Given the description of an element on the screen output the (x, y) to click on. 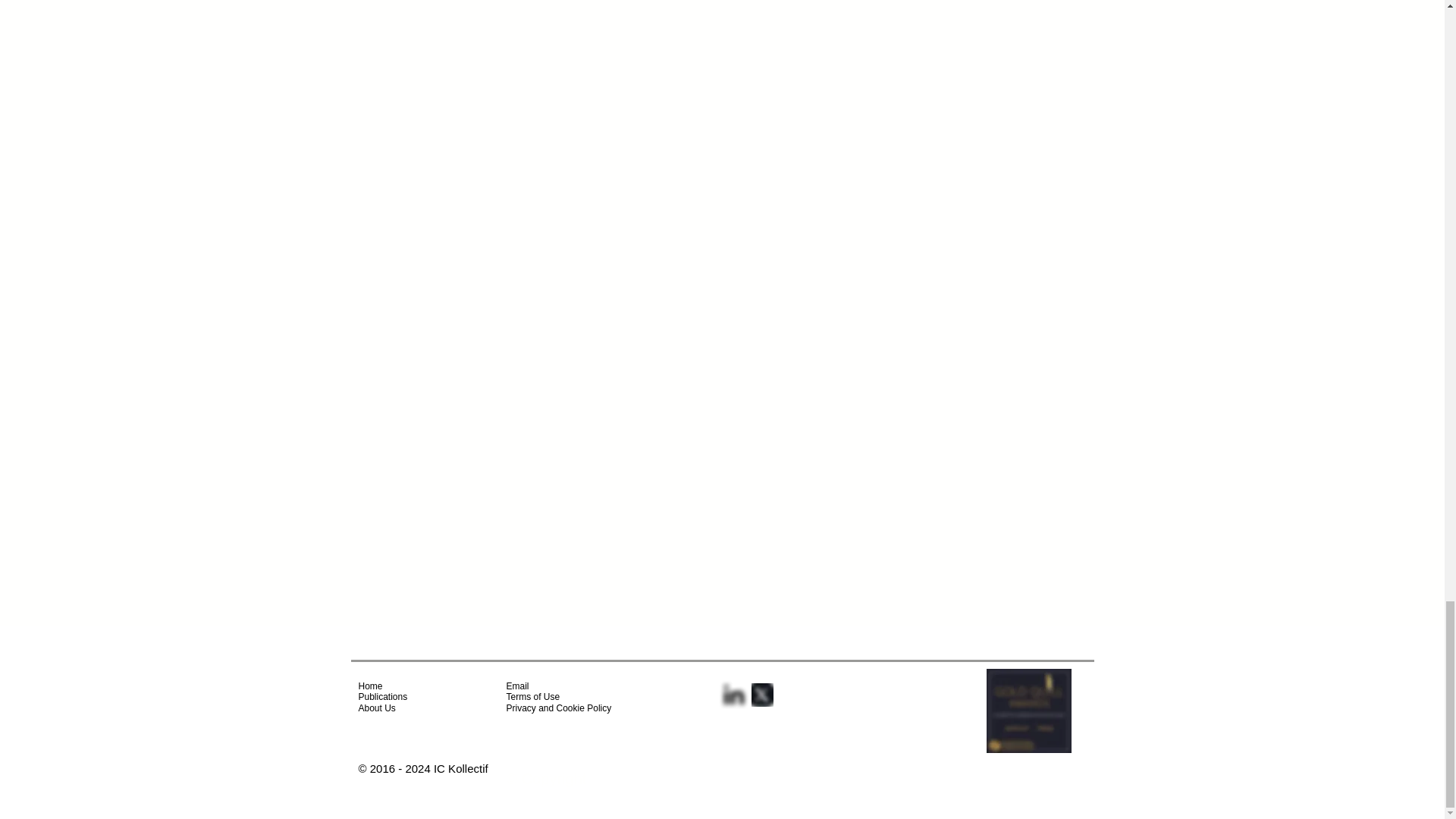
Terms of Use (533, 696)
Privacy and Cookie Policy  (560, 707)
IC Kollectif Gold Quill winner (1027, 710)
Email (517, 685)
Publications (382, 696)
linkediIN BLANC.png (734, 694)
Home (369, 685)
About Us (376, 707)
